Given the description of an element on the screen output the (x, y) to click on. 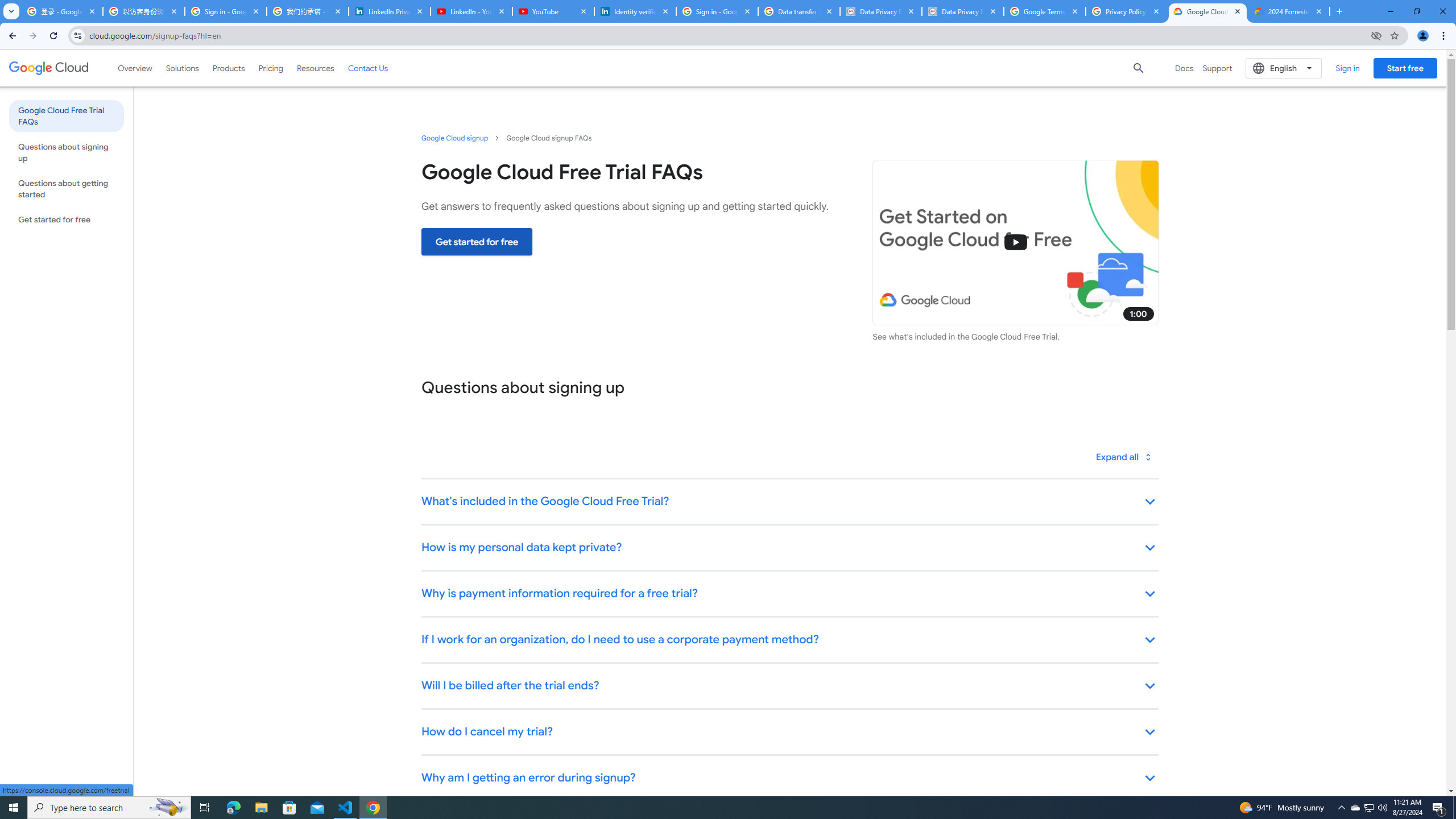
LinkedIn Privacy Policy (389, 11)
Data Privacy Framework (963, 11)
Solutions (181, 67)
Toggle all (1123, 456)
Support (1216, 67)
Google Cloud signup (454, 137)
Contact Us (368, 67)
